Given the description of an element on the screen output the (x, y) to click on. 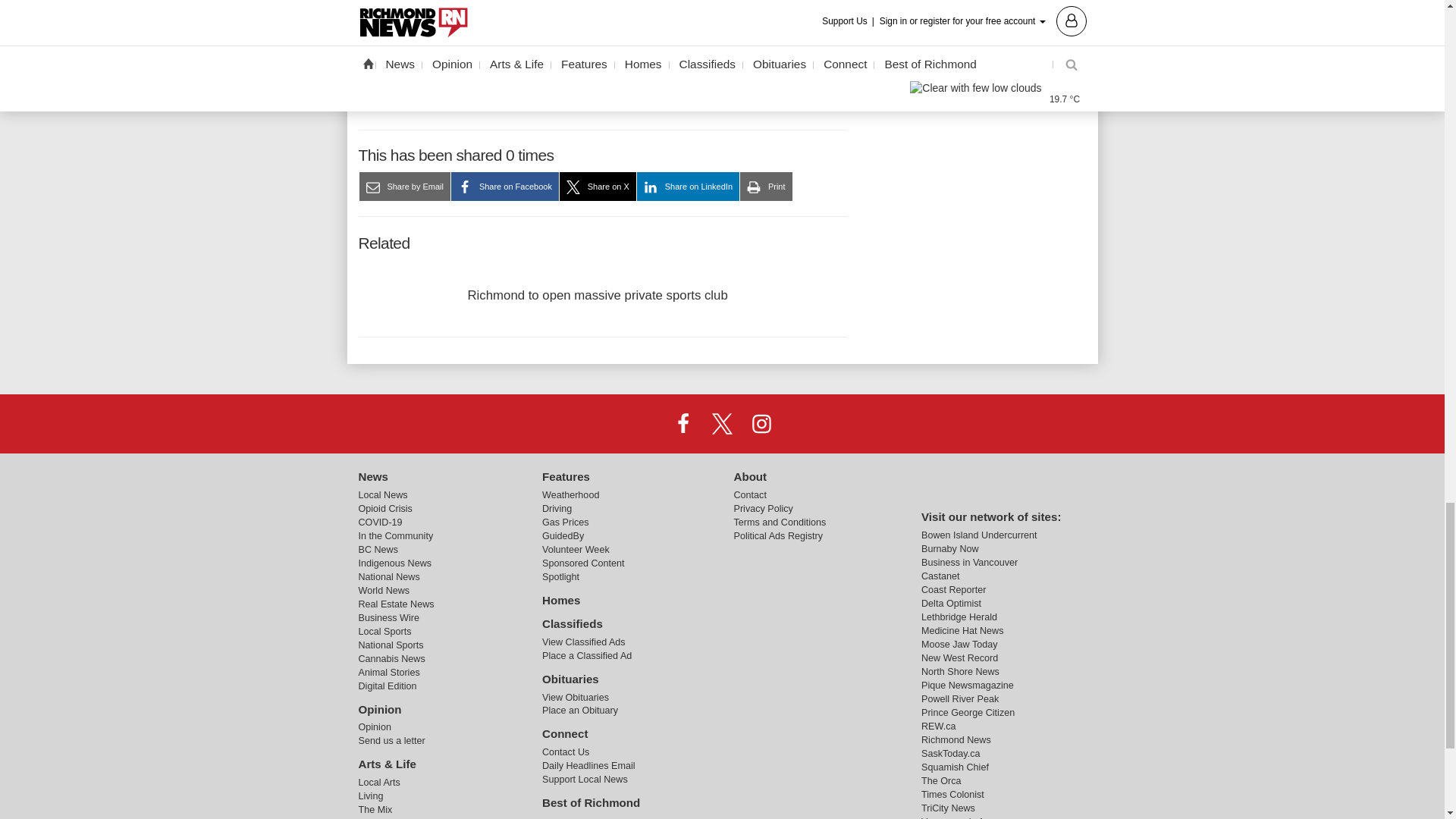
X (721, 423)
Facebook (683, 423)
Instagram (760, 423)
